Given the description of an element on the screen output the (x, y) to click on. 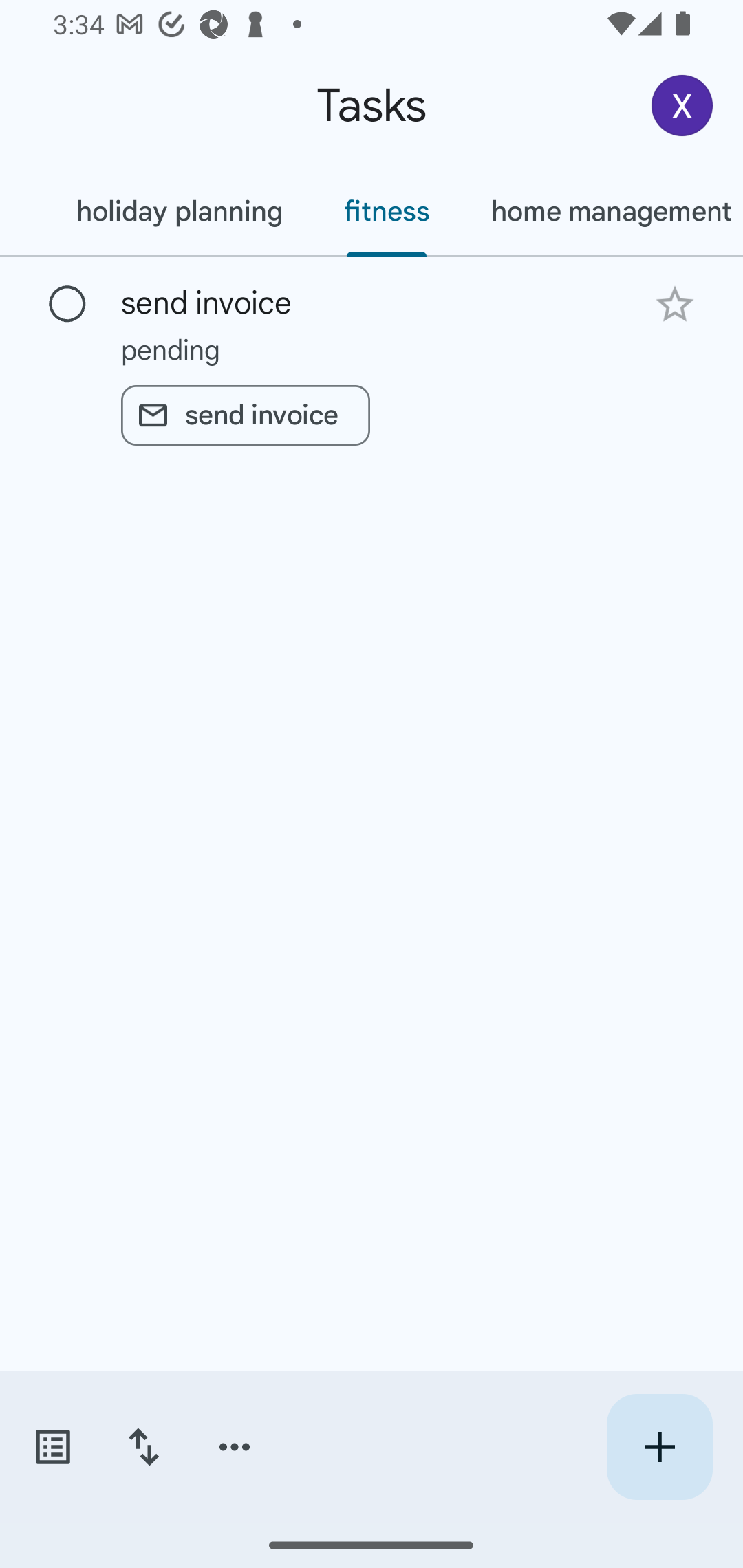
holiday planning (178, 211)
home management (601, 211)
Add star (674, 303)
Mark as complete (67, 304)
pending (371, 349)
send invoice Related link (245, 415)
Switch task lists (52, 1447)
Create new task (659, 1446)
Change sort order (143, 1446)
More options (234, 1446)
